Given the description of an element on the screen output the (x, y) to click on. 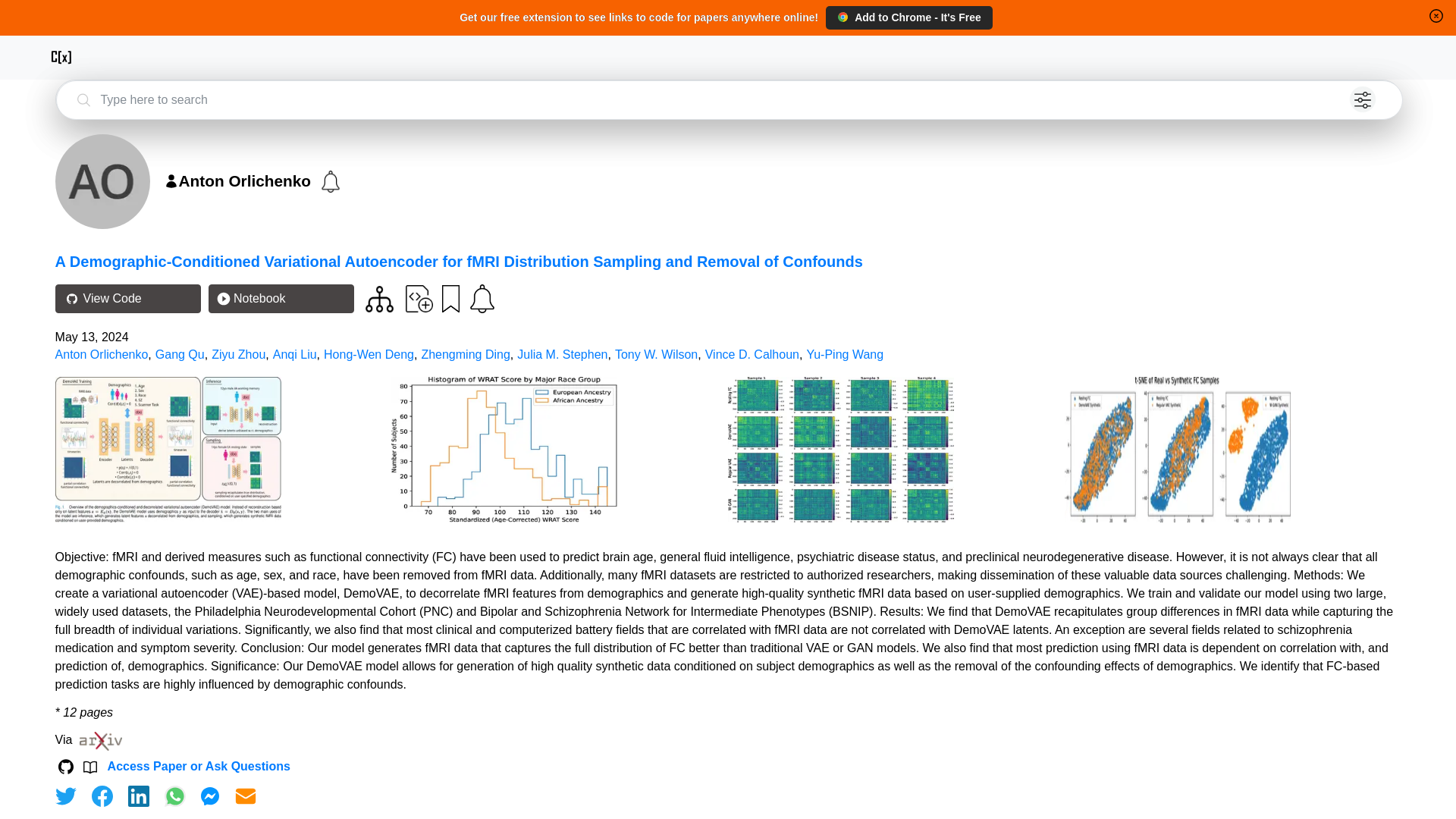
View Code (127, 298)
Tony W. Wilson (655, 354)
Anton Orlichenko (101, 354)
Julia M. Stephen (561, 354)
Contribute your code for this paper to the community (419, 298)
Access Paper or Ask Questions (198, 766)
Anqi Liu (295, 354)
Hong-Wen Deng (368, 354)
Add to Chrome - It's Free (908, 17)
Share via Email (245, 795)
Yu-Ping Wang (844, 354)
Vince D. Calhoun (751, 354)
Notebook (280, 298)
Ziyu Zhou (237, 354)
